Given the description of an element on the screen output the (x, y) to click on. 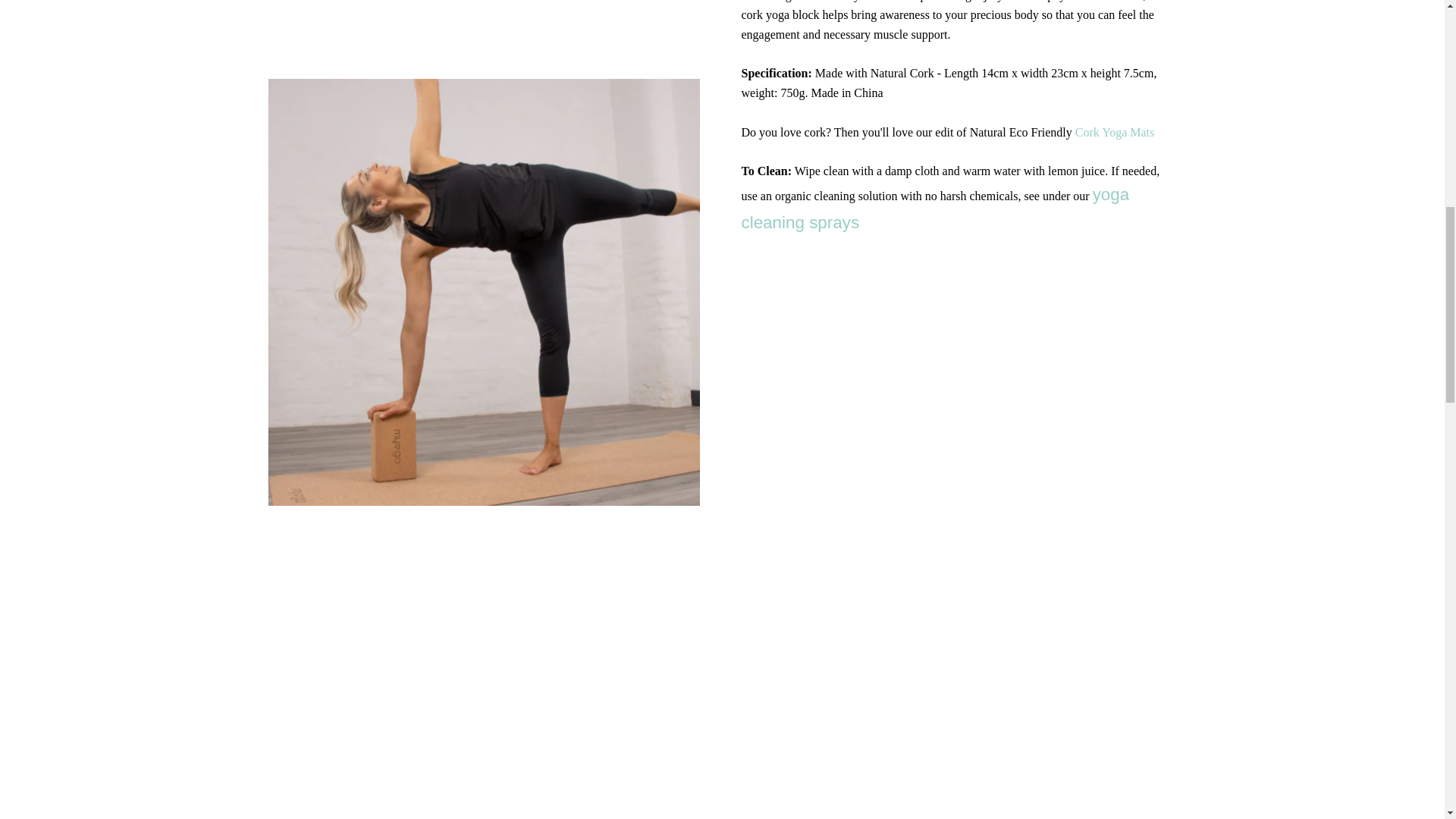
cork yoga mats (1112, 132)
yoga mat cleaning spray (935, 207)
